Given the description of an element on the screen output the (x, y) to click on. 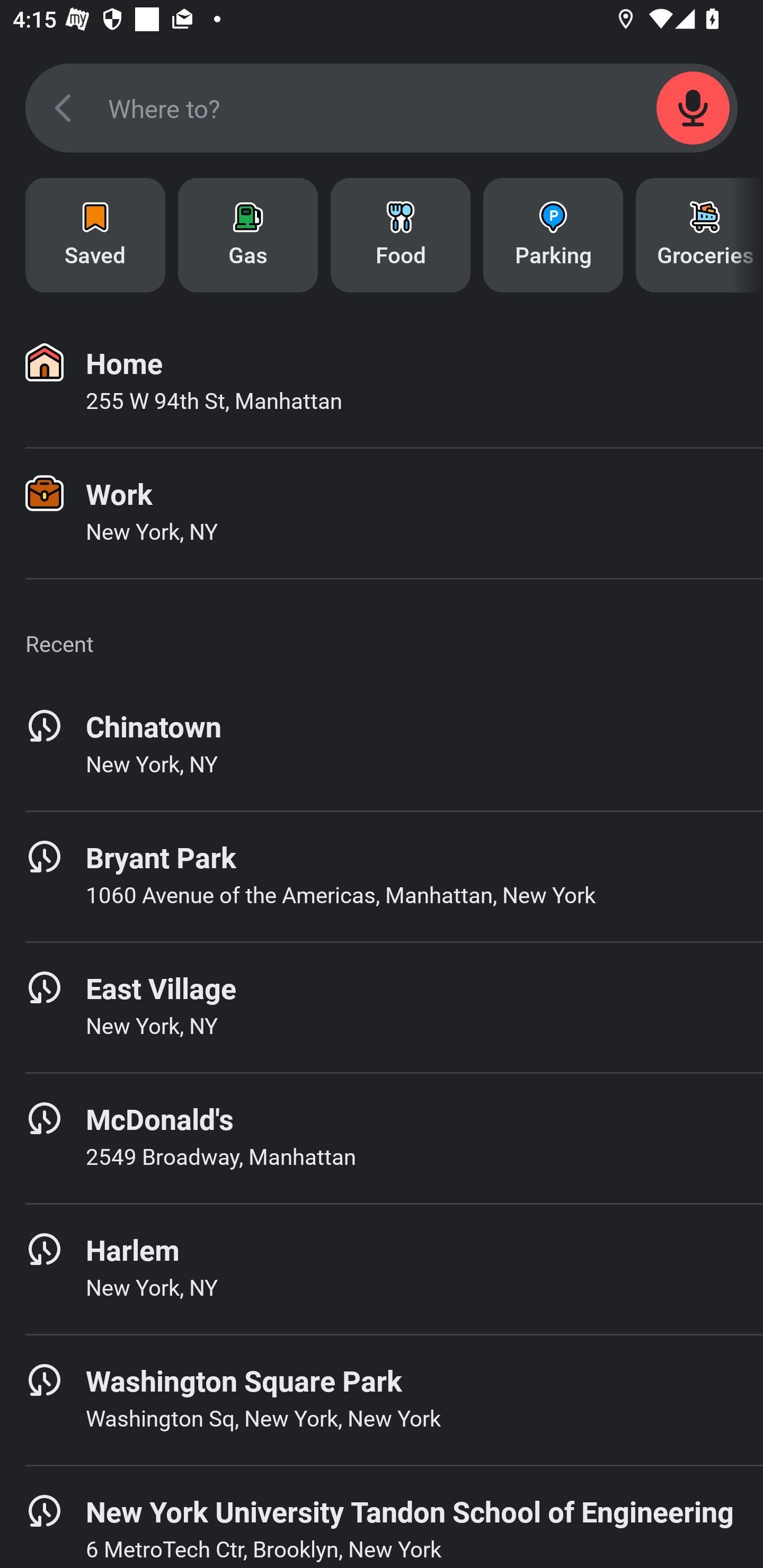
SEARCH_SCREEN_SEARCH_FIELD Where to? (381, 108)
Saved (95, 234)
Gas (247, 234)
Food (400, 234)
Parking (552, 234)
Groceries (699, 234)
Home 255 W 94th St, Manhattan (381, 382)
Work New York, NY (381, 513)
Chinatown New York, NY (381, 745)
East Village New York, NY (381, 1007)
McDonald's 2549 Broadway, Manhattan (381, 1138)
Harlem New York, NY (381, 1269)
